Given the description of an element on the screen output the (x, y) to click on. 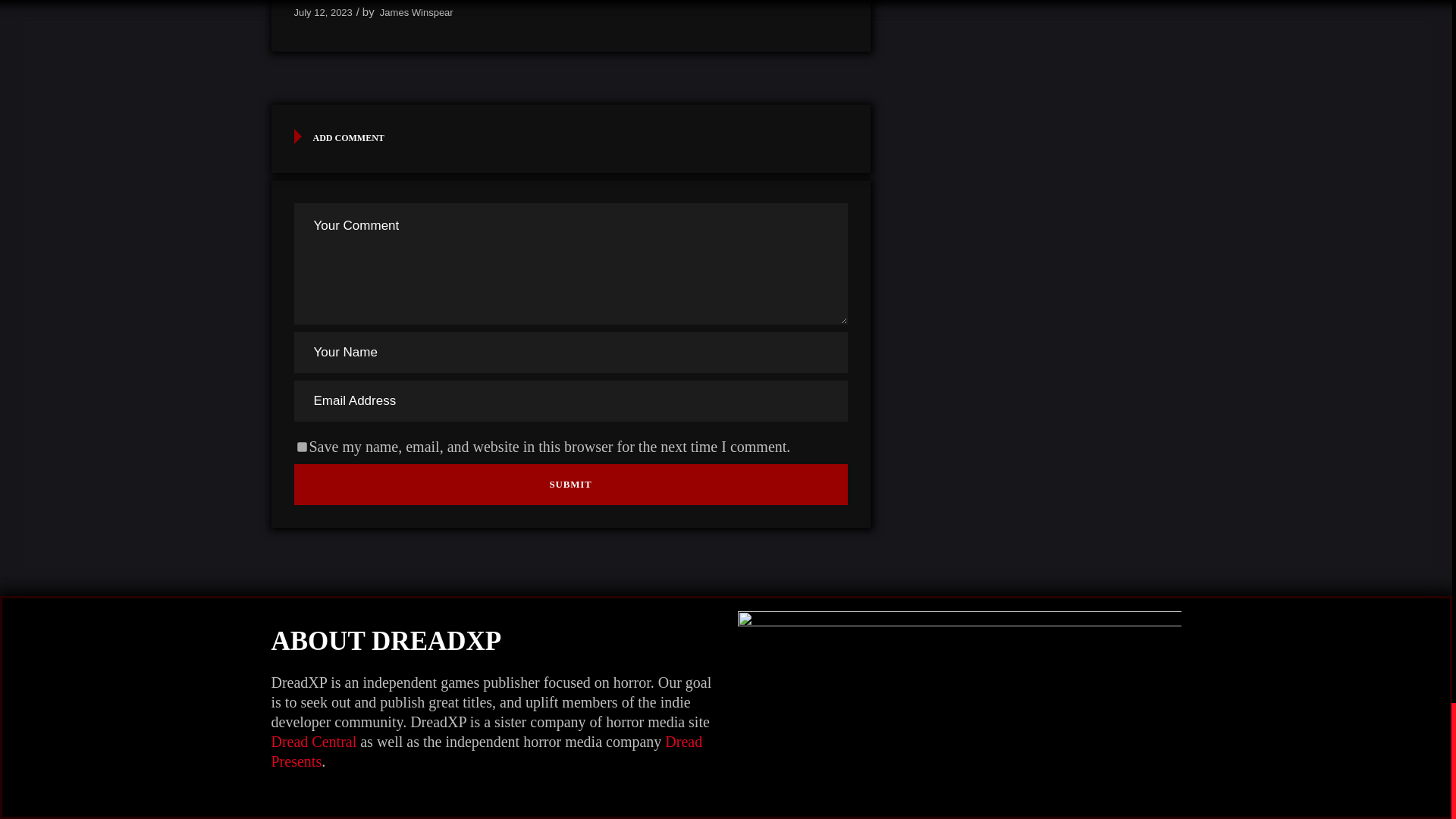
yes (302, 447)
Submit (570, 484)
